Given the description of an element on the screen output the (x, y) to click on. 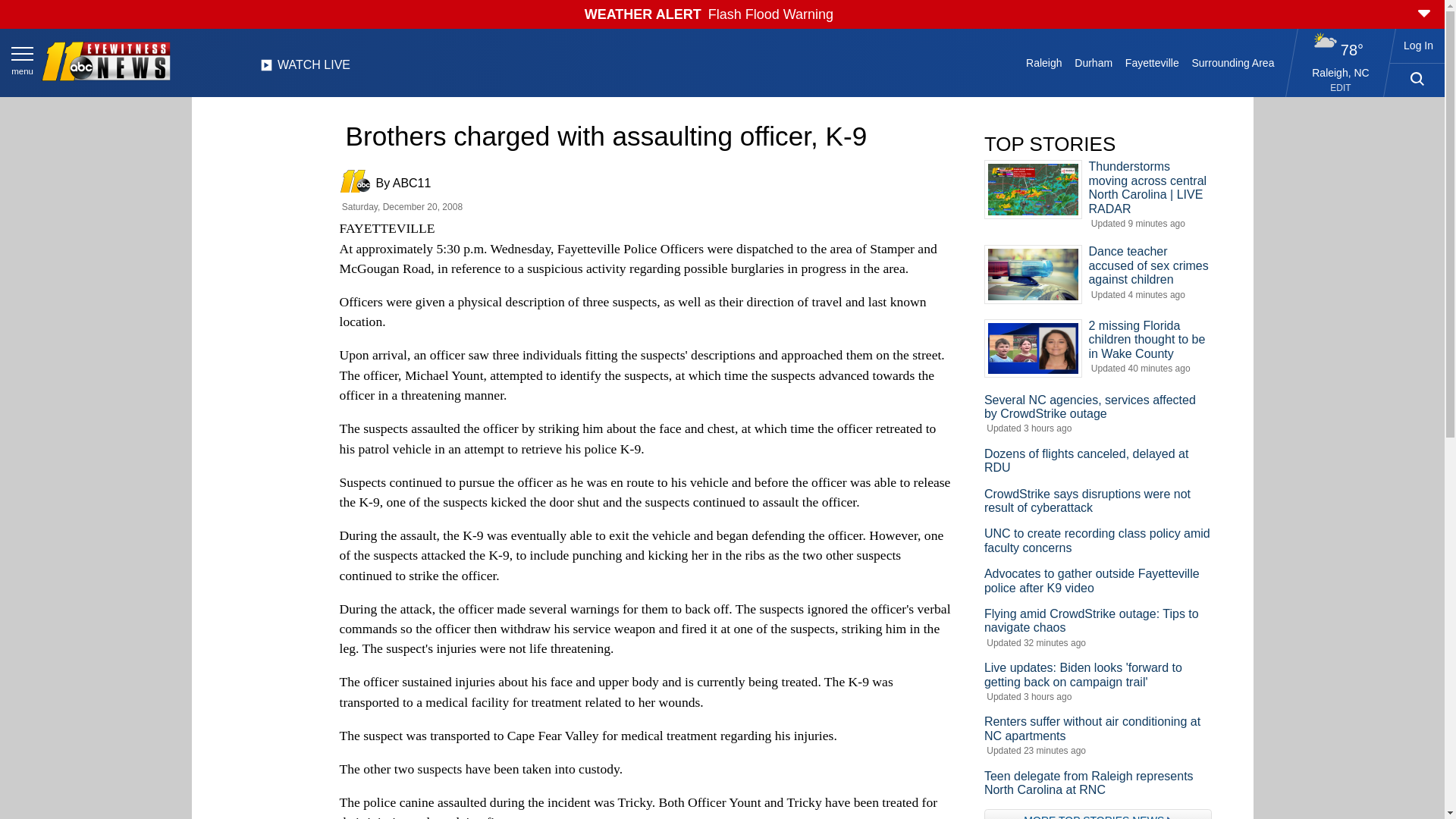
EDIT (1340, 87)
WATCH LIVE (305, 69)
Raleigh (1044, 62)
Raleigh, NC (1340, 72)
Durham (1093, 62)
Surrounding Area (1233, 62)
Fayetteville (1151, 62)
